Given the description of an element on the screen output the (x, y) to click on. 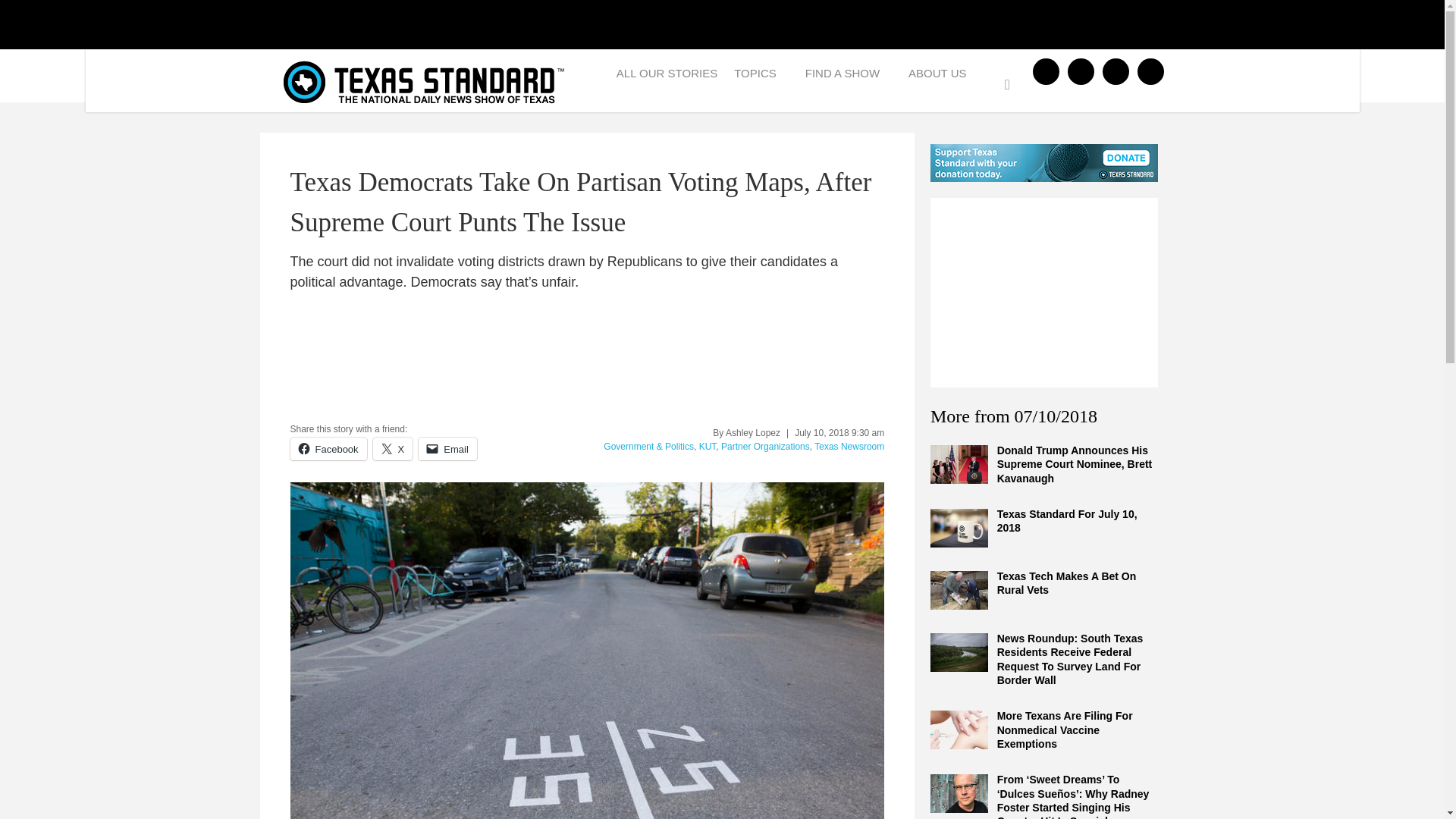
Click to share on X (392, 448)
ALL OUR STORIES (666, 77)
Click to email a link to a friend (448, 448)
TOPICS (761, 77)
Click to share on Facebook (327, 448)
